Given the description of an element on the screen output the (x, y) to click on. 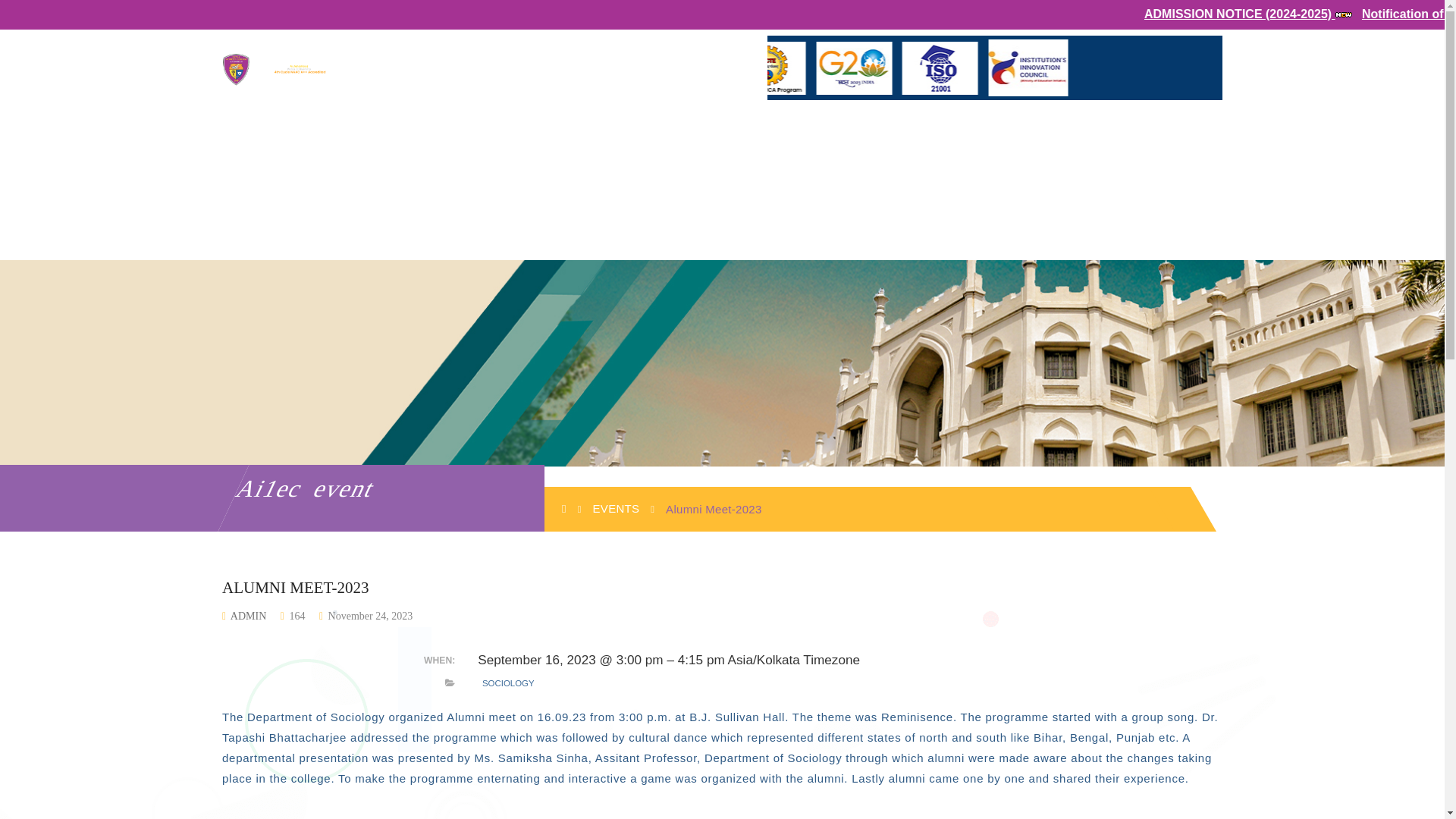
ACADEMICS (345, 156)
Events (616, 508)
Alumni Meet-2023 (368, 615)
THE COLLEGE (258, 156)
Categories (449, 682)
